Given the description of an element on the screen output the (x, y) to click on. 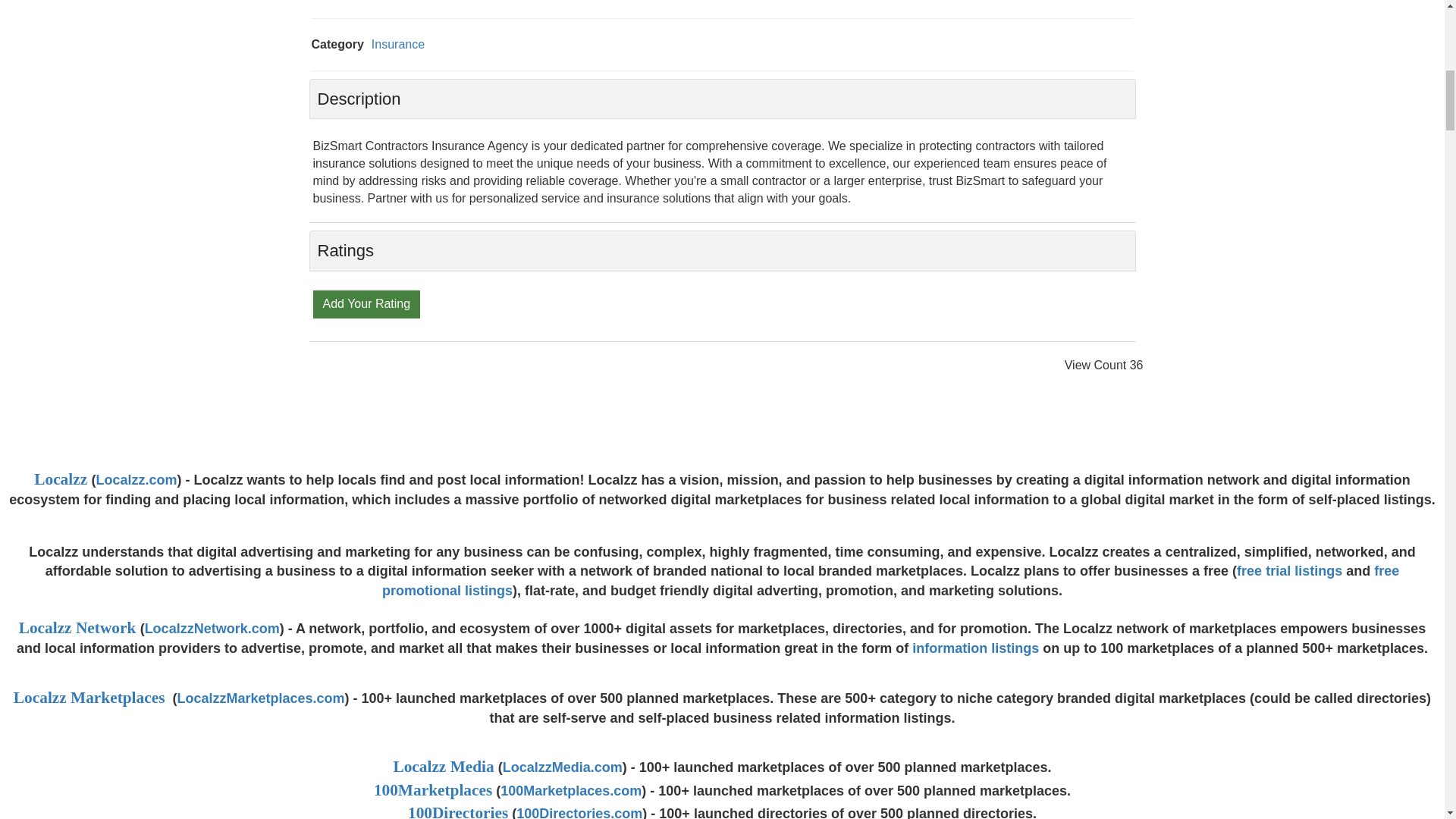
Click to Rate (366, 303)
